Given the description of an element on the screen output the (x, y) to click on. 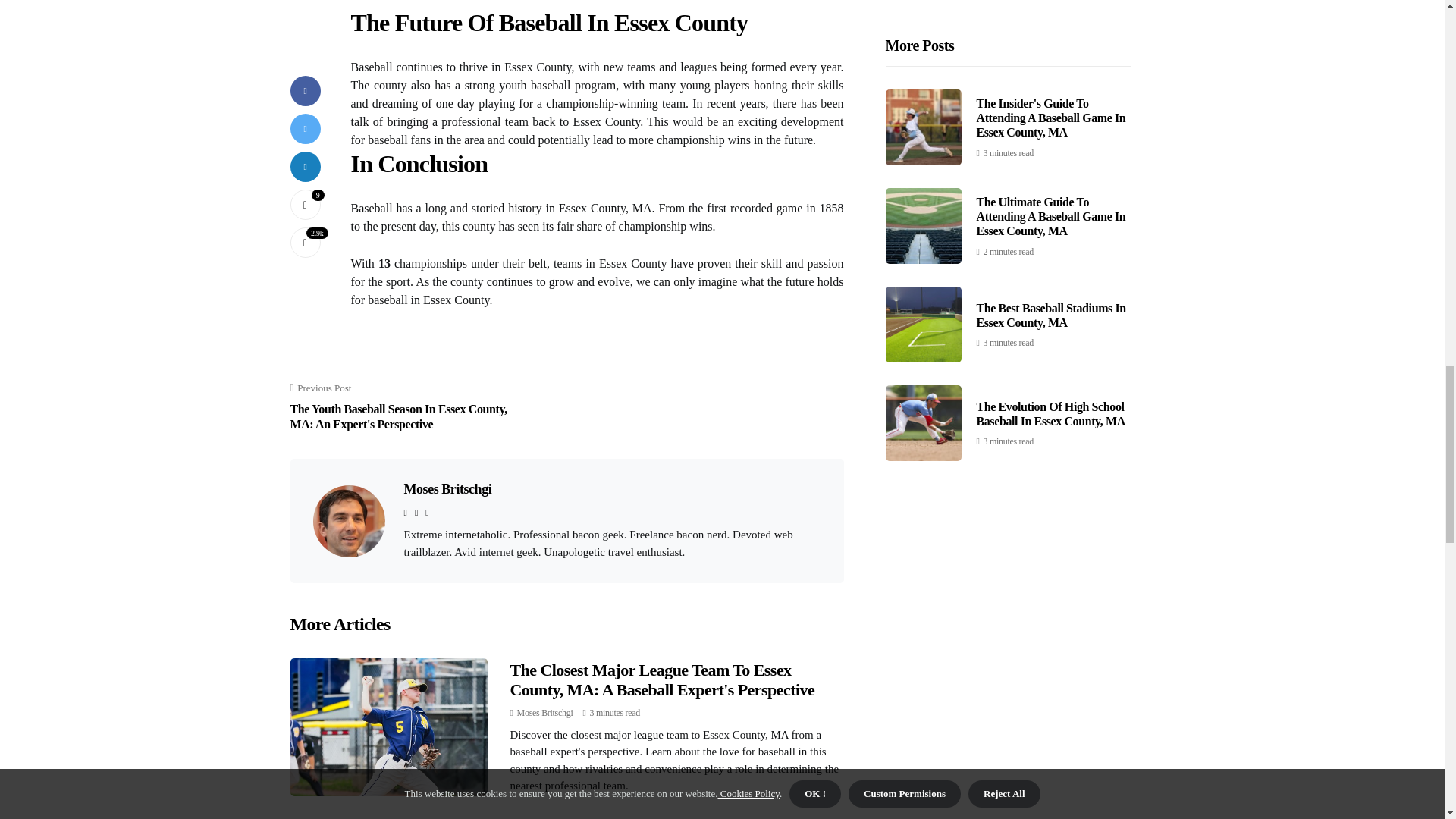
Moses Britschgi (544, 712)
Moses Britschgi (447, 488)
Posts by Moses Britschgi (544, 712)
